Given the description of an element on the screen output the (x, y) to click on. 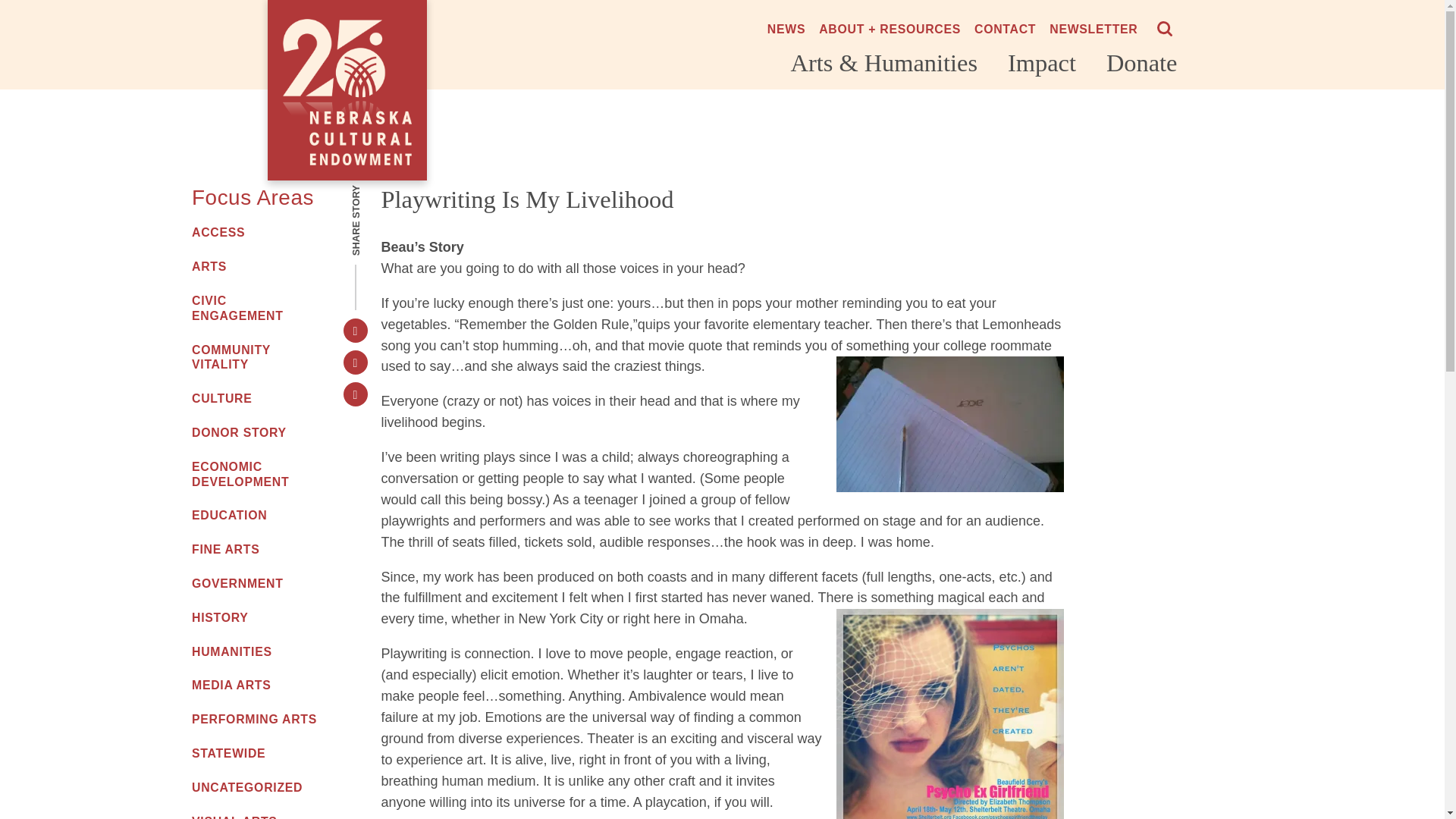
CULTURE (255, 398)
UNCATEGORIZED (255, 787)
CIVIC ENGAGEMENT (255, 308)
MEDIA ARTS (255, 685)
CONTACT (1004, 28)
Impact (1041, 62)
NEWSLETTER (1093, 28)
STATEWIDE (255, 753)
ECONOMIC DEVELOPMENT (255, 474)
PERFORMING ARTS (255, 719)
Donate (1141, 62)
EDUCATION (255, 516)
VISUAL ARTS (255, 816)
GOVERNMENT (255, 583)
DONOR STORY (255, 432)
